Given the description of an element on the screen output the (x, y) to click on. 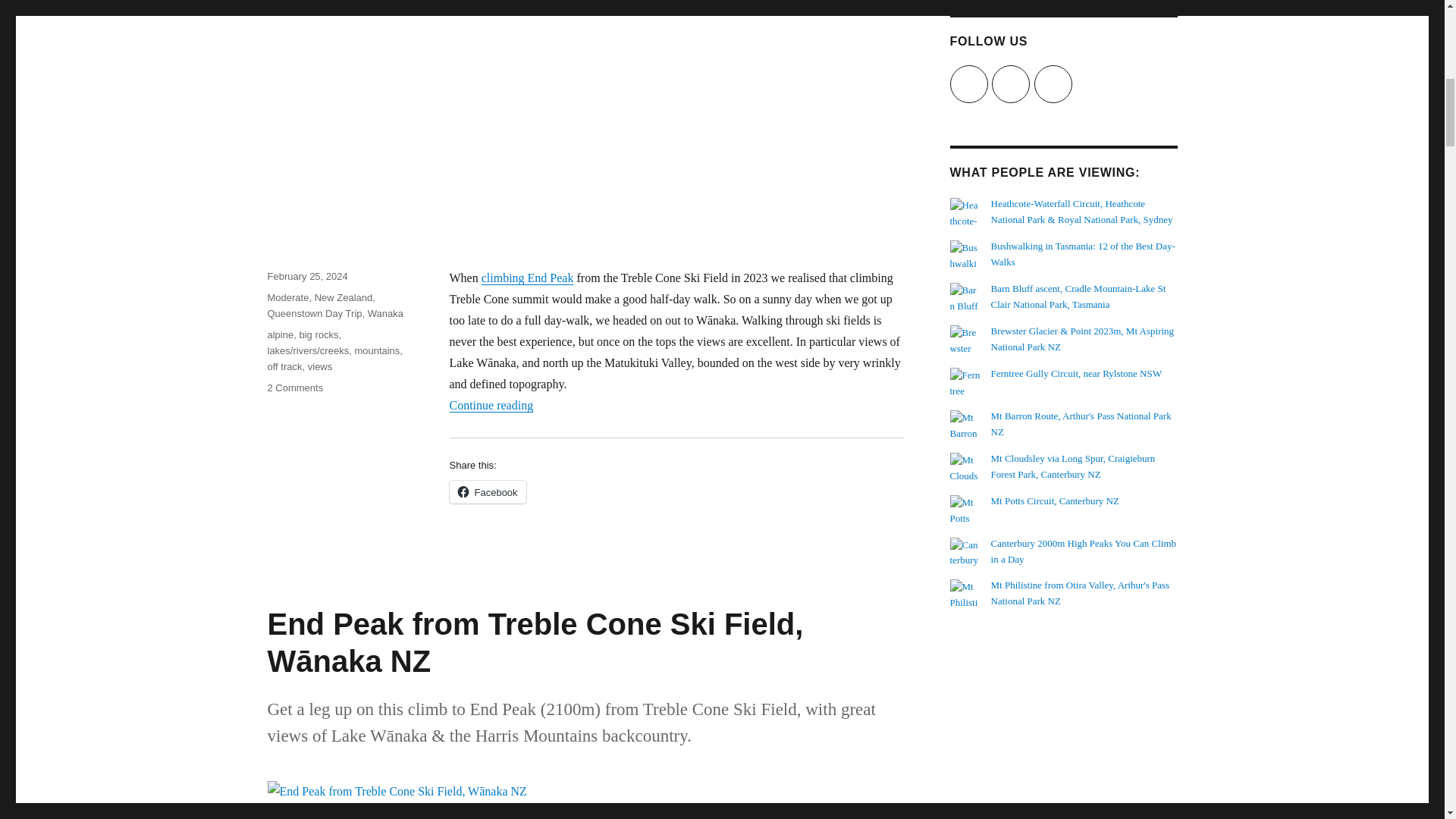
Bushwalking in Tasmania: 12 of the Best Day-Walks (1082, 253)
Click to share on Facebook (486, 491)
